Given the description of an element on the screen output the (x, y) to click on. 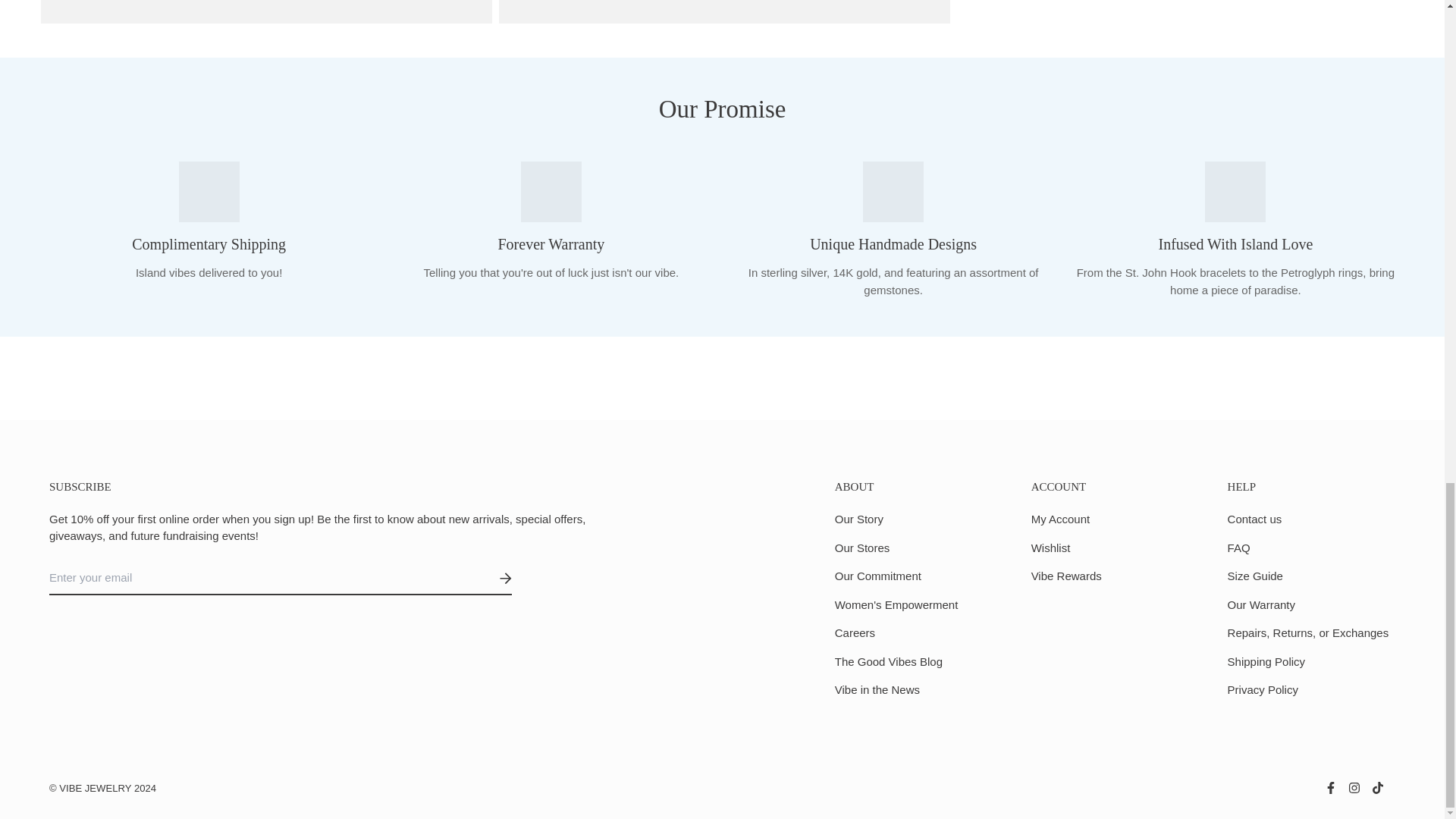
Our Promise (1114, 535)
